Given the description of an element on the screen output the (x, y) to click on. 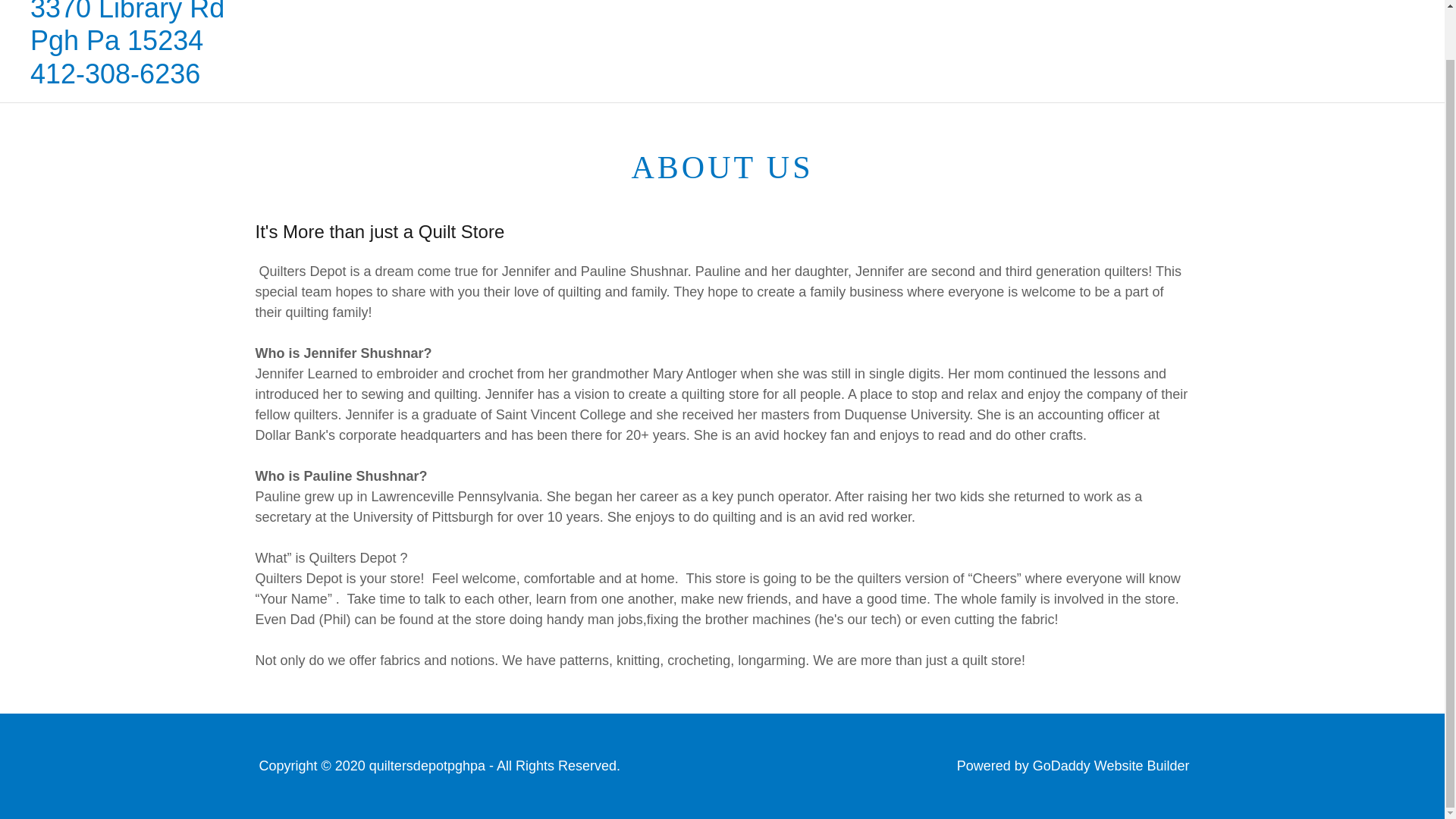
GoDaddy (127, 78)
